Given the description of an element on the screen output the (x, y) to click on. 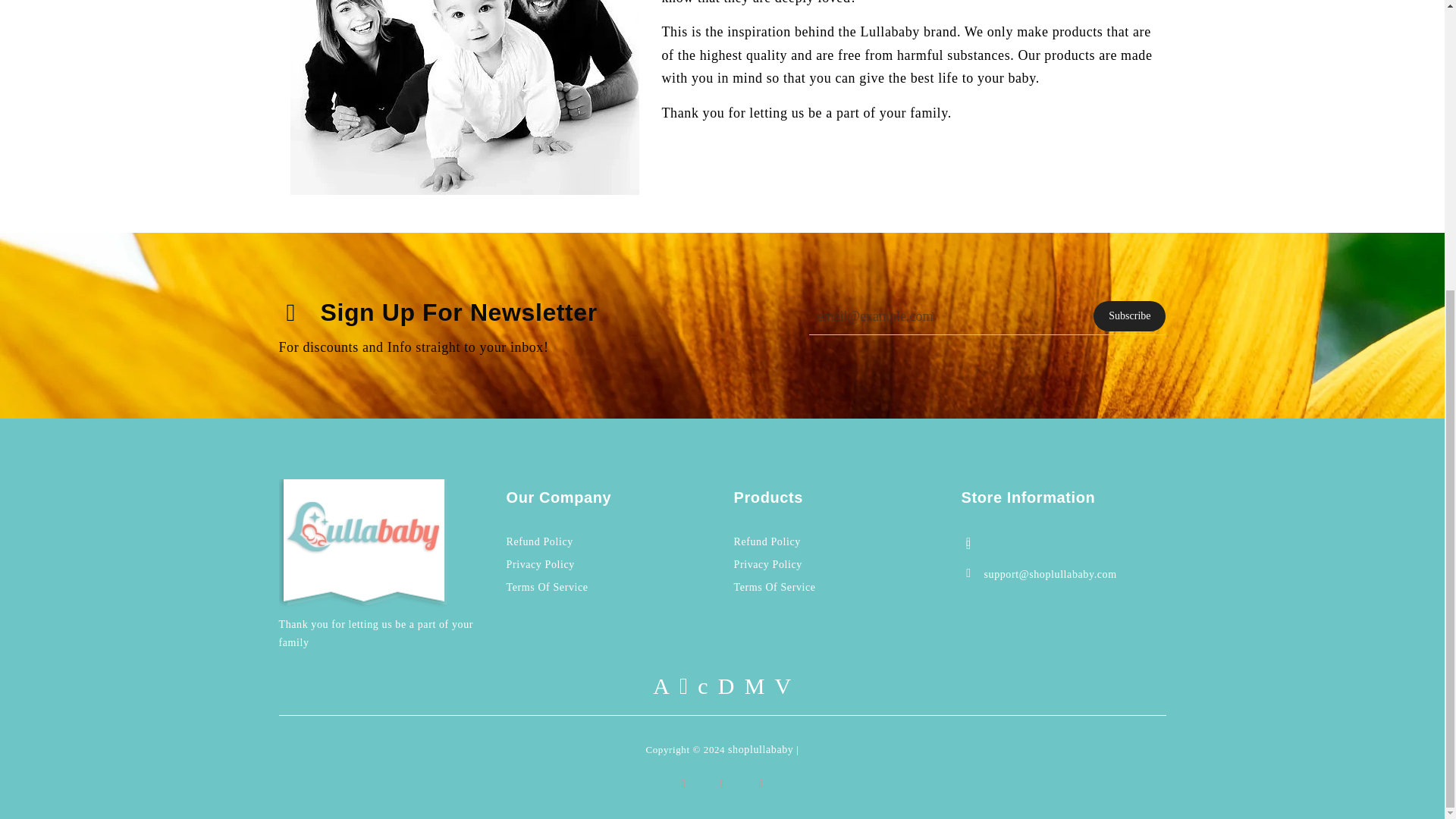
shoplullababy (760, 749)
shoplullababy on Instagram (761, 782)
Subscribe (1129, 316)
Pinterest (721, 782)
Terms Of Service (774, 586)
Privacy Policy (767, 564)
Instagram (761, 782)
Terms Of Service (547, 586)
Refund Policy (766, 541)
Refund Policy (539, 541)
